Given the description of an element on the screen output the (x, y) to click on. 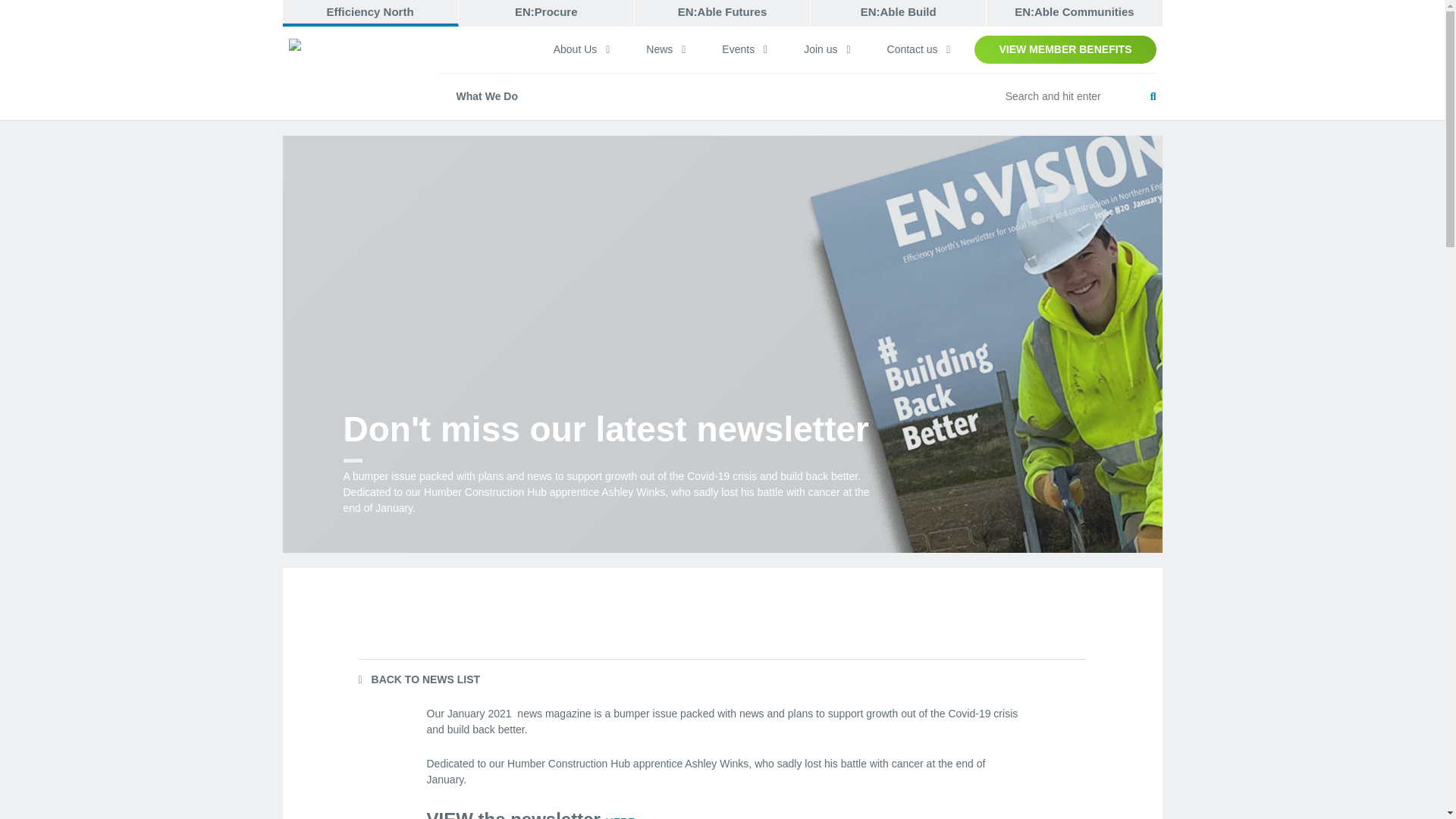
EN:Able Futures (722, 13)
Join us (826, 49)
BACK TO NEWS LIST (419, 679)
Contact us (918, 49)
About Us (581, 49)
EN:Able Build (898, 13)
EN:Able Communities (1074, 13)
Efficiency North (370, 13)
Events (744, 49)
EN:Procure (546, 13)
